Given the description of an element on the screen output the (x, y) to click on. 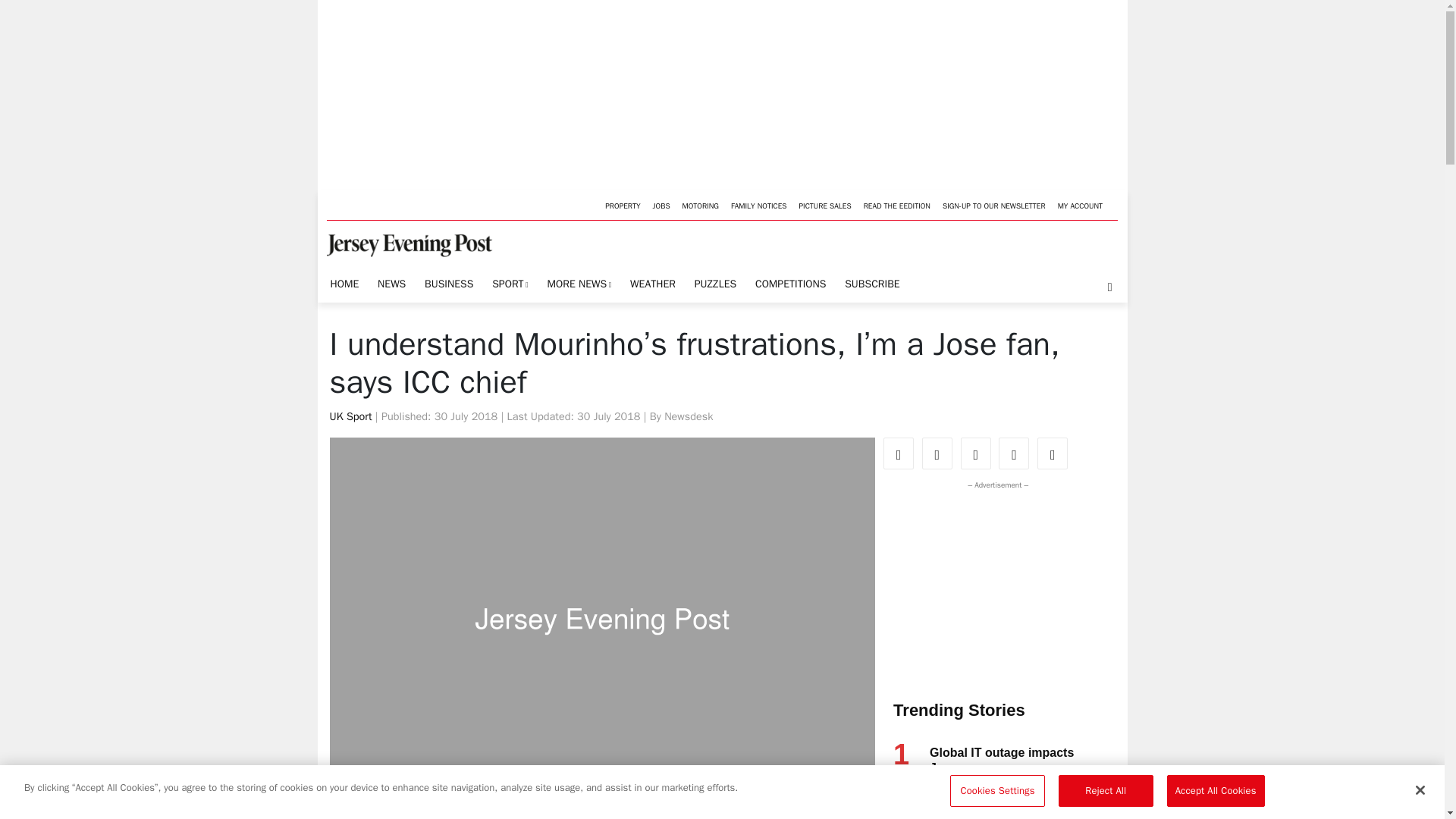
3rd party ad content (994, 587)
PICTURE SALES (824, 205)
PROPERTY (622, 205)
NEWS (391, 284)
BUSINESS (448, 284)
WEATHER (652, 284)
FAMILY NOTICES (759, 205)
MORE NEWS (579, 284)
SUBSCRIBE (871, 284)
MY ACCOUNT (1079, 205)
COMPETITIONS (790, 284)
JOBS (661, 205)
READ THE EEDITION (896, 205)
MOTORING (701, 205)
